Given the description of an element on the screen output the (x, y) to click on. 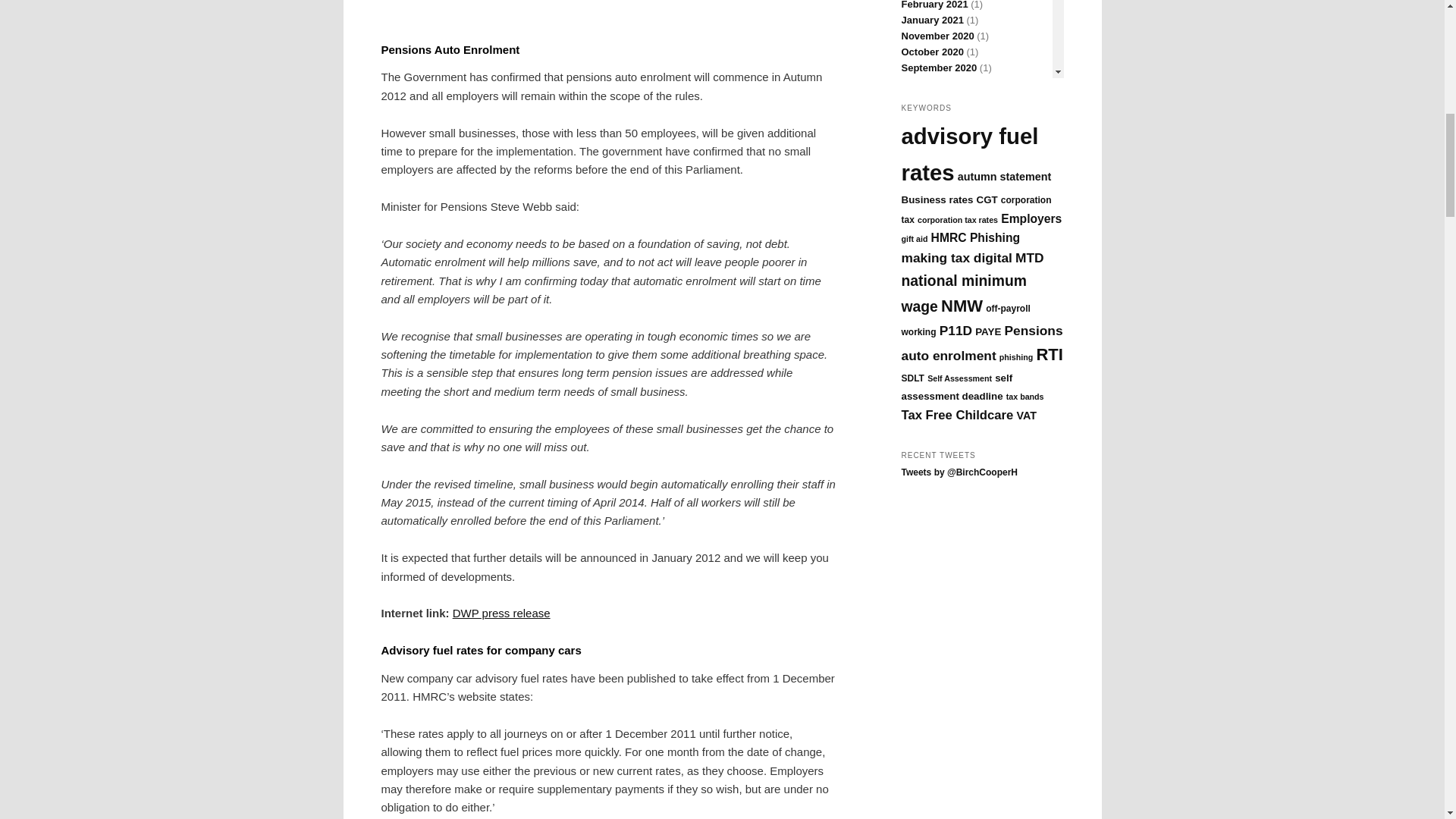
DWP press release (501, 612)
